Given the description of an element on the screen output the (x, y) to click on. 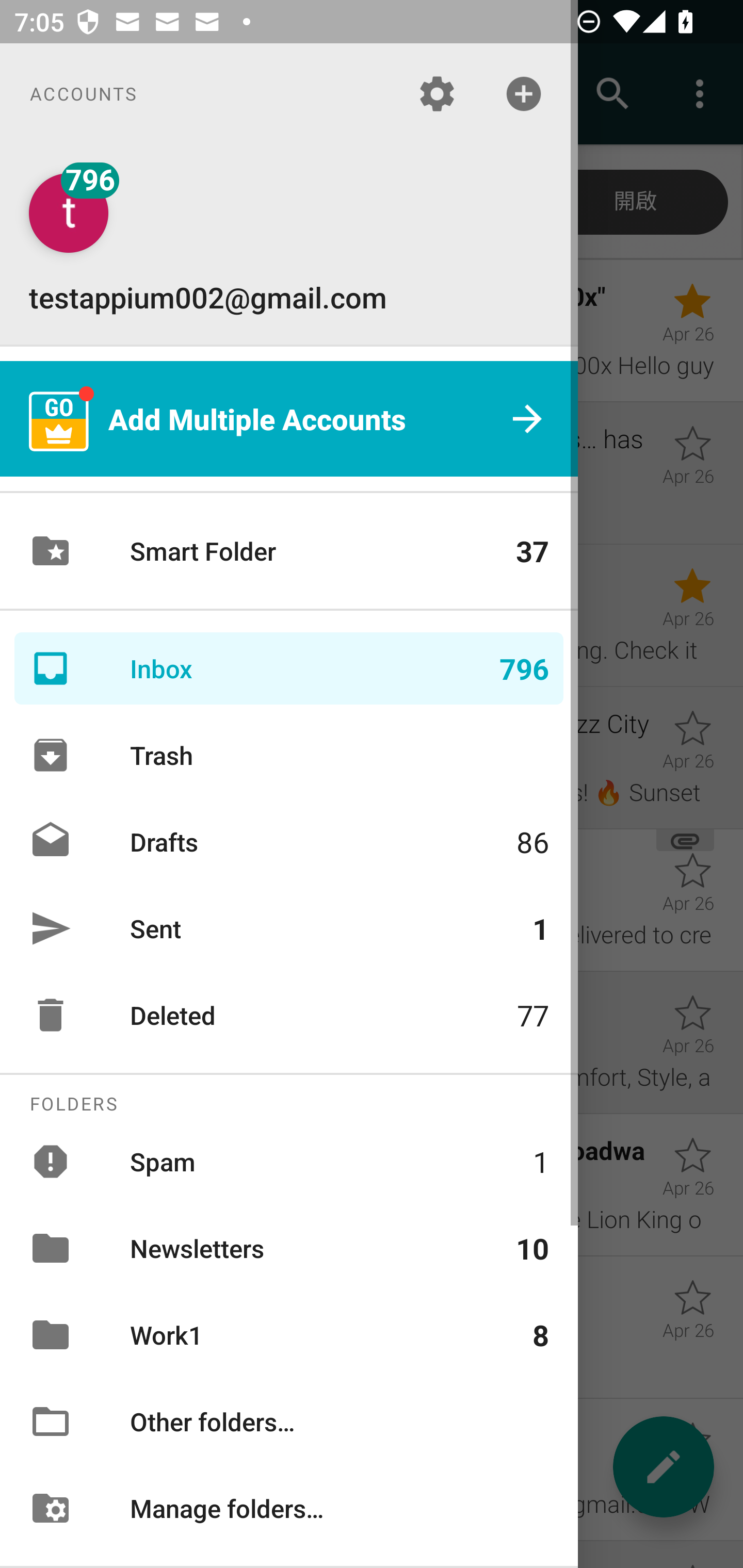
testappium002@gmail.com (289, 244)
Add Multiple Accounts (289, 418)
Smart Folder 37 (289, 551)
Inbox 796 (289, 668)
Trash (289, 754)
Drafts 86 (289, 841)
Sent 1 (289, 928)
Deleted 77 (289, 1015)
Spam 1 (289, 1160)
Newsletters 10 (289, 1248)
Work1 8 (289, 1335)
Other folders… (289, 1421)
Manage folders… (289, 1507)
